Given the description of an element on the screen output the (x, y) to click on. 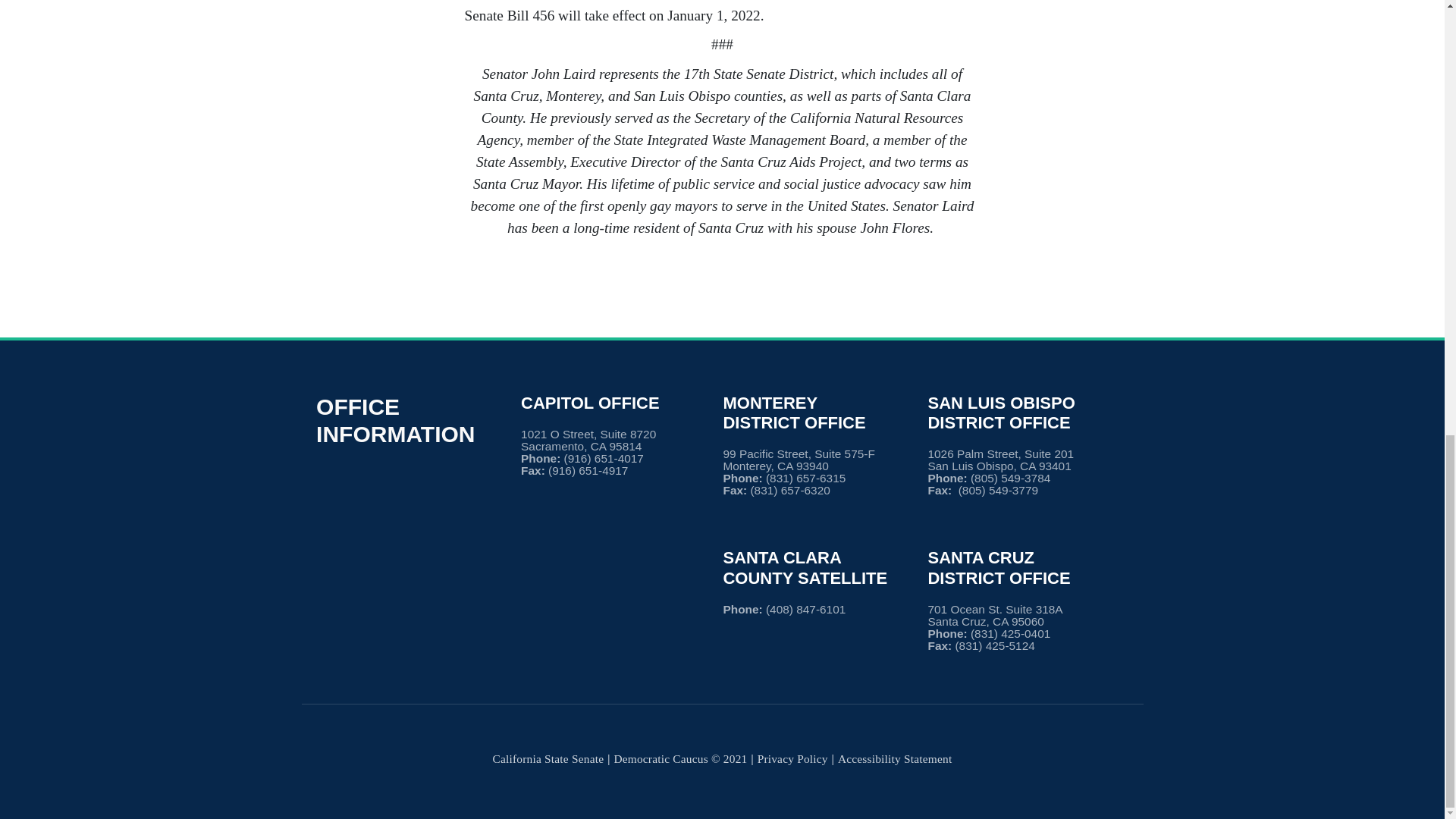
California State Senate (548, 758)
Privacy Policy (792, 758)
Accessibility Statement (895, 758)
